Given the description of an element on the screen output the (x, y) to click on. 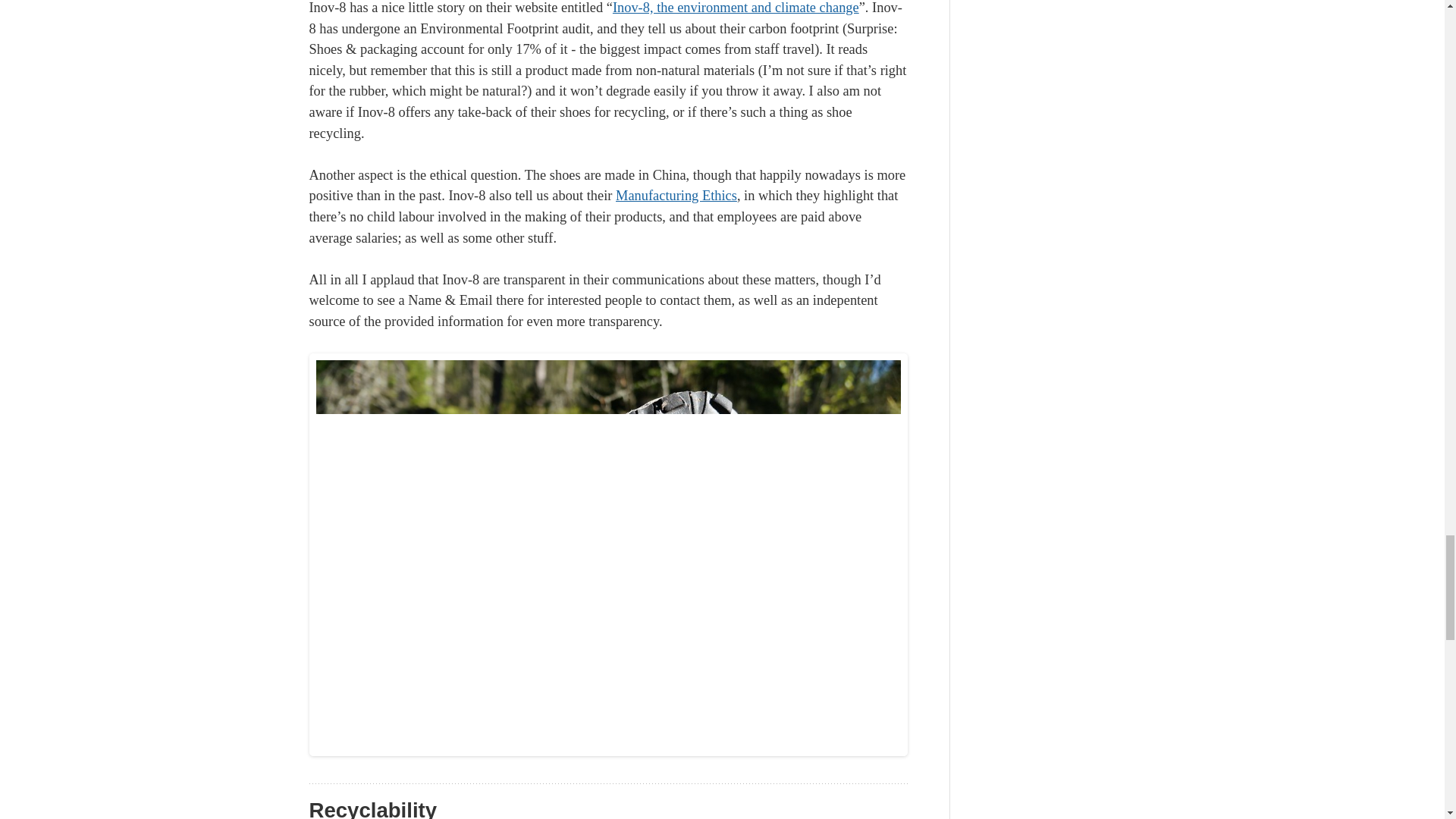
Inov-8, the environment and climate change (735, 7)
Inov-8 X-Talon 190 by HendrikMorkel, on Flickr (607, 751)
Manufacturing Ethics (675, 195)
